Given the description of an element on the screen output the (x, y) to click on. 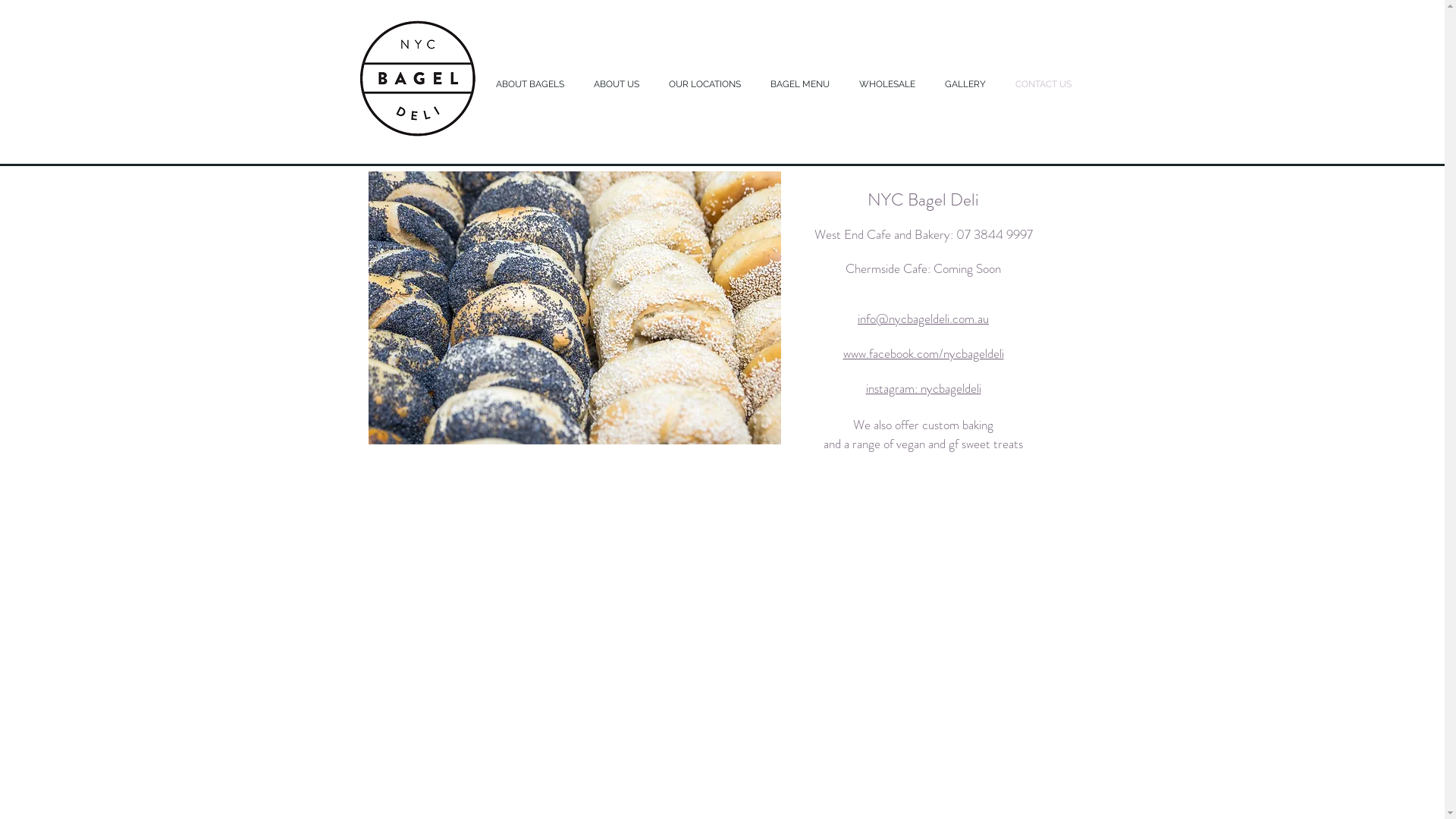
GALLERY Element type: text (967, 84)
CONTACT US Element type: text (1046, 84)
ABOUT BAGELS Element type: text (532, 84)
ABOUT US Element type: text (619, 84)
www.facebook.com/nycbageldeli Element type: text (923, 354)
instagram: nycbageldeli Element type: text (923, 389)
WHOLESALE Element type: text (890, 84)
BAGEL MENU Element type: text (802, 84)
info@nycbageldeli.com.au Element type: text (922, 319)
OUR LOCATIONS Element type: text (707, 84)
